Given the description of an element on the screen output the (x, y) to click on. 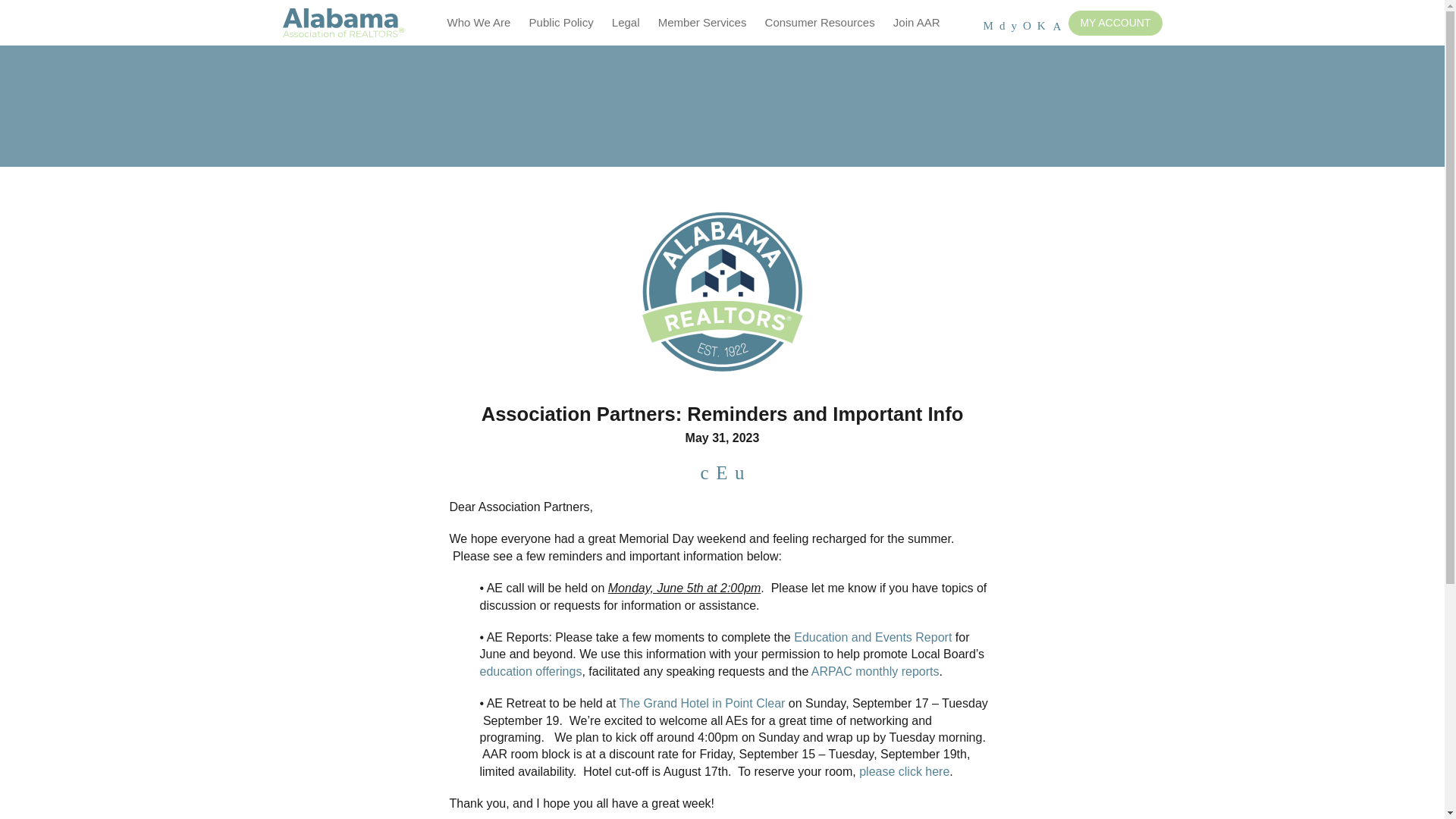
Legal (625, 22)
Who We Are (478, 22)
please click here (904, 771)
Legal (625, 22)
Public Policy (561, 22)
ARPAC monthly reports (874, 671)
Public Policy (561, 22)
Member Services (702, 22)
Who We Are (478, 22)
Alabama Association of REALTORS (342, 22)
